Given the description of an element on the screen output the (x, y) to click on. 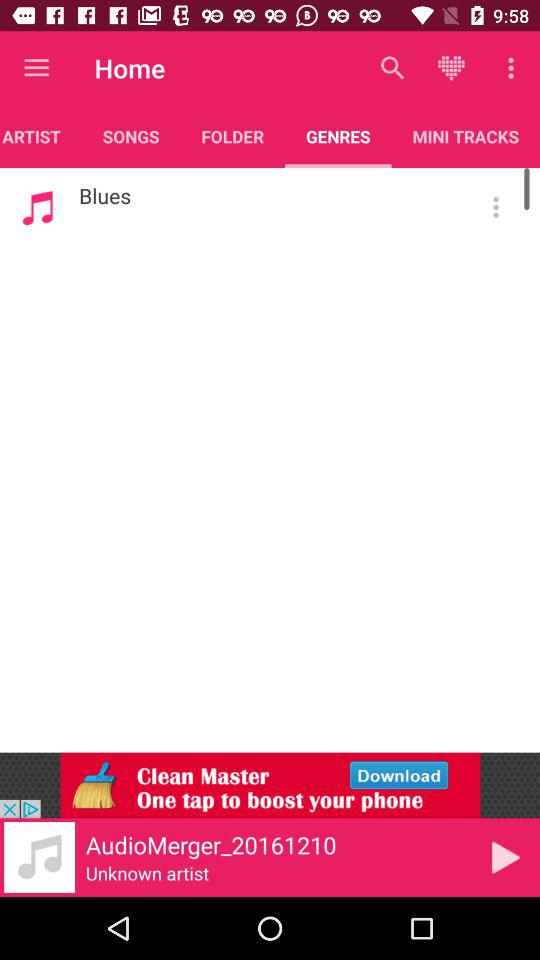
make advertisement (270, 785)
